Given the description of an element on the screen output the (x, y) to click on. 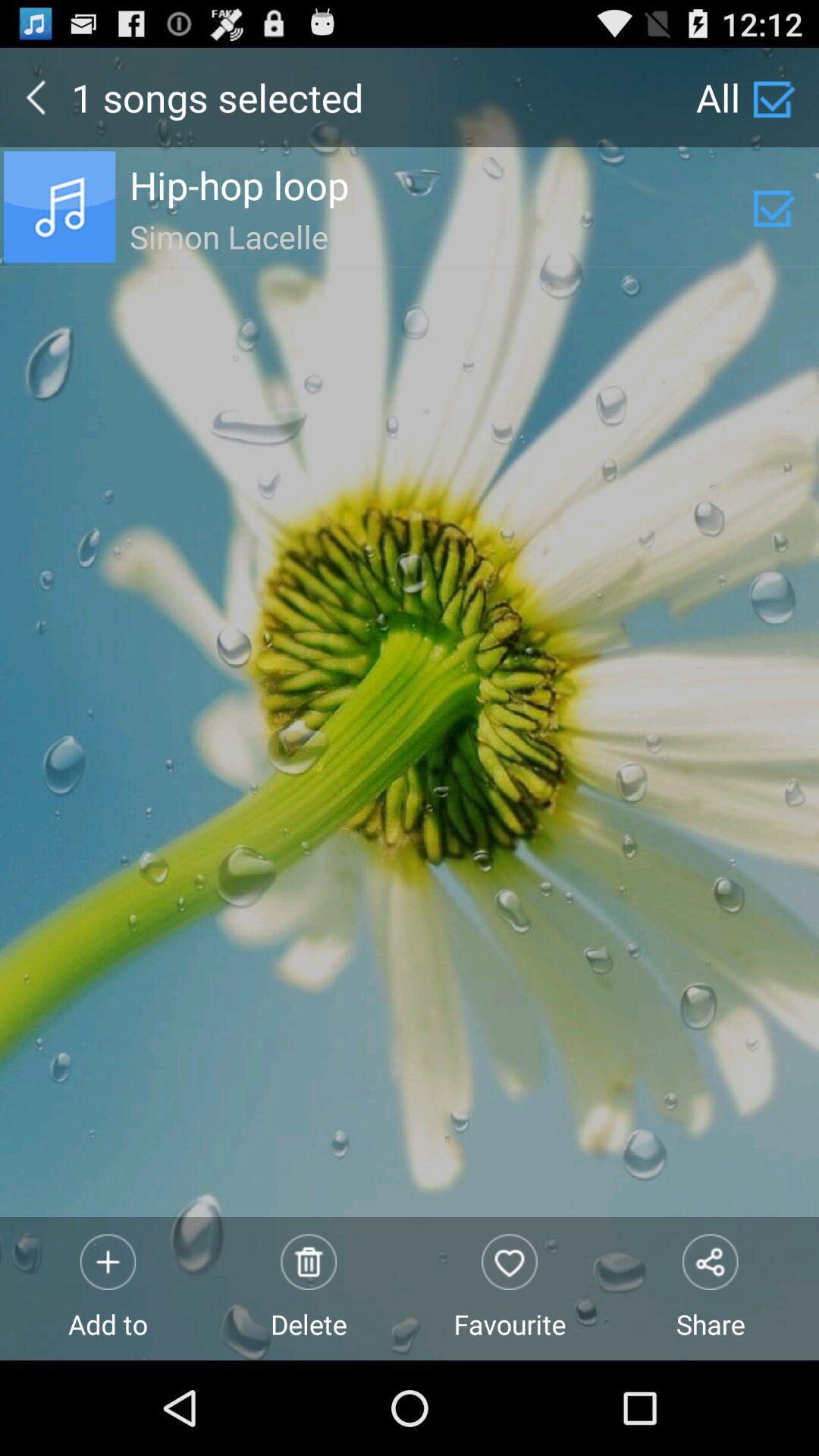
press item to the right of the delete item (509, 1288)
